Given the description of an element on the screen output the (x, y) to click on. 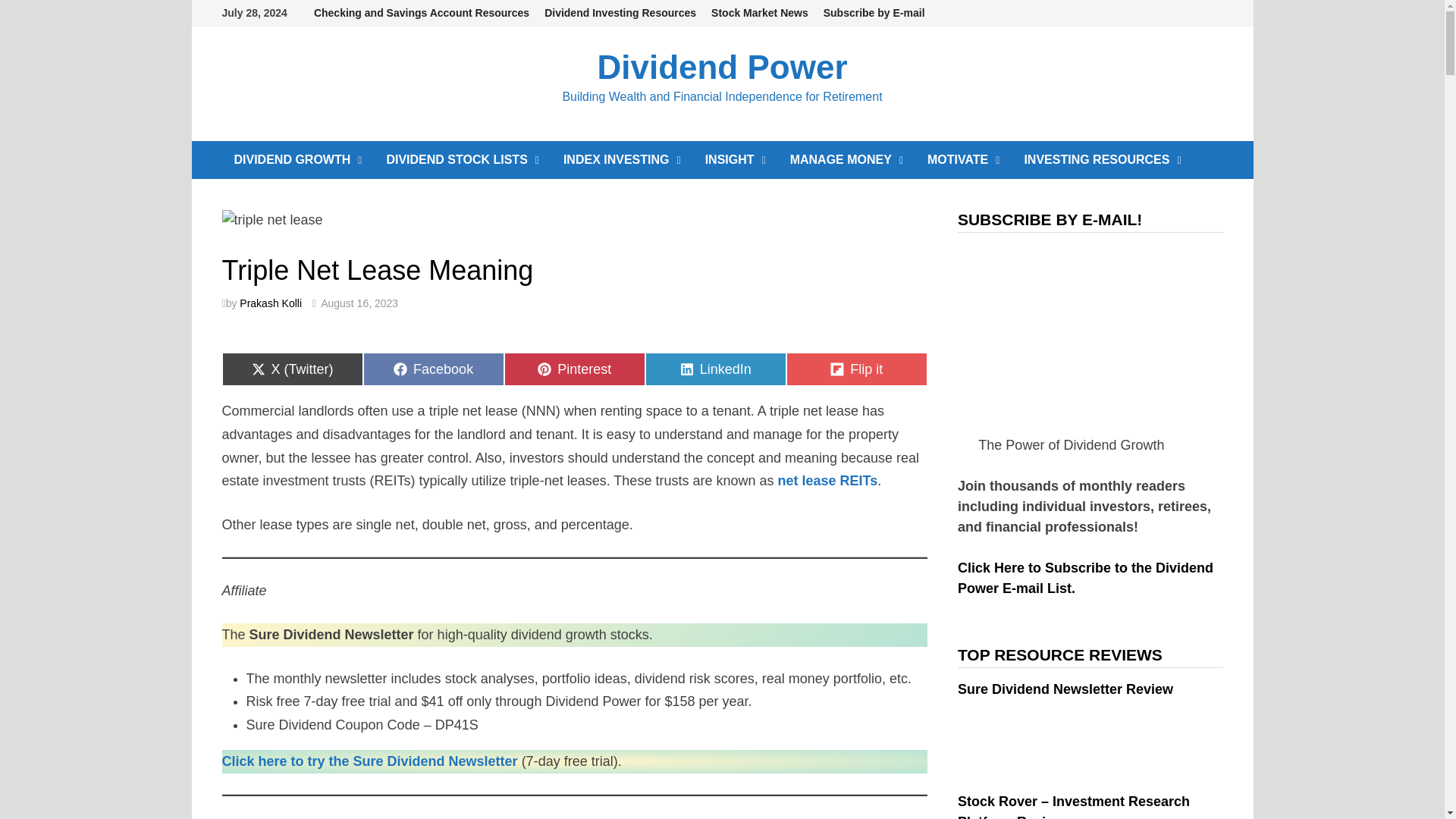
Stock Market News (759, 13)
Dividend Investing Resources (620, 13)
DIVIDEND GROWTH (297, 159)
Dividend Power (721, 66)
INSIGHT (735, 159)
DIVIDEND STOCK LISTS (462, 159)
Subscribe by E-mail (874, 13)
INDEX INVESTING (622, 159)
Checking and Savings Account Resources (421, 13)
